Given the description of an element on the screen output the (x, y) to click on. 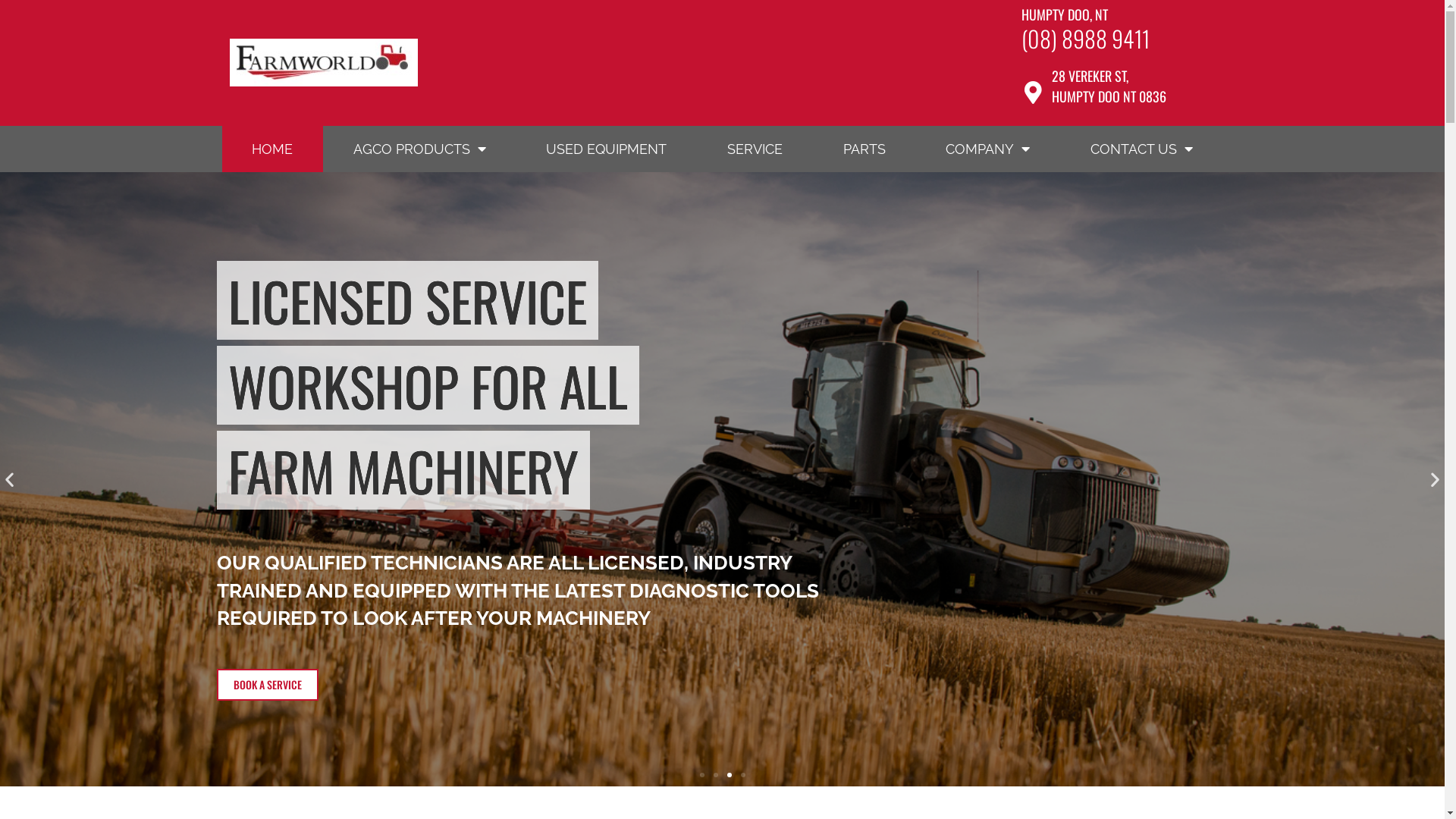
SERVICE Element type: text (754, 148)
VIEW OUR STOCK Element type: text (268, 655)
CONTACT US Element type: text (1141, 148)
COMPANY Element type: text (987, 148)
USED EQUIPMENT Element type: text (606, 148)
AGCO PRODUCTS Element type: text (419, 148)
PARTS Element type: text (864, 148)
HOME Element type: text (272, 148)
(08) 8988 9411 Element type: text (1085, 38)
